Given the description of an element on the screen output the (x, y) to click on. 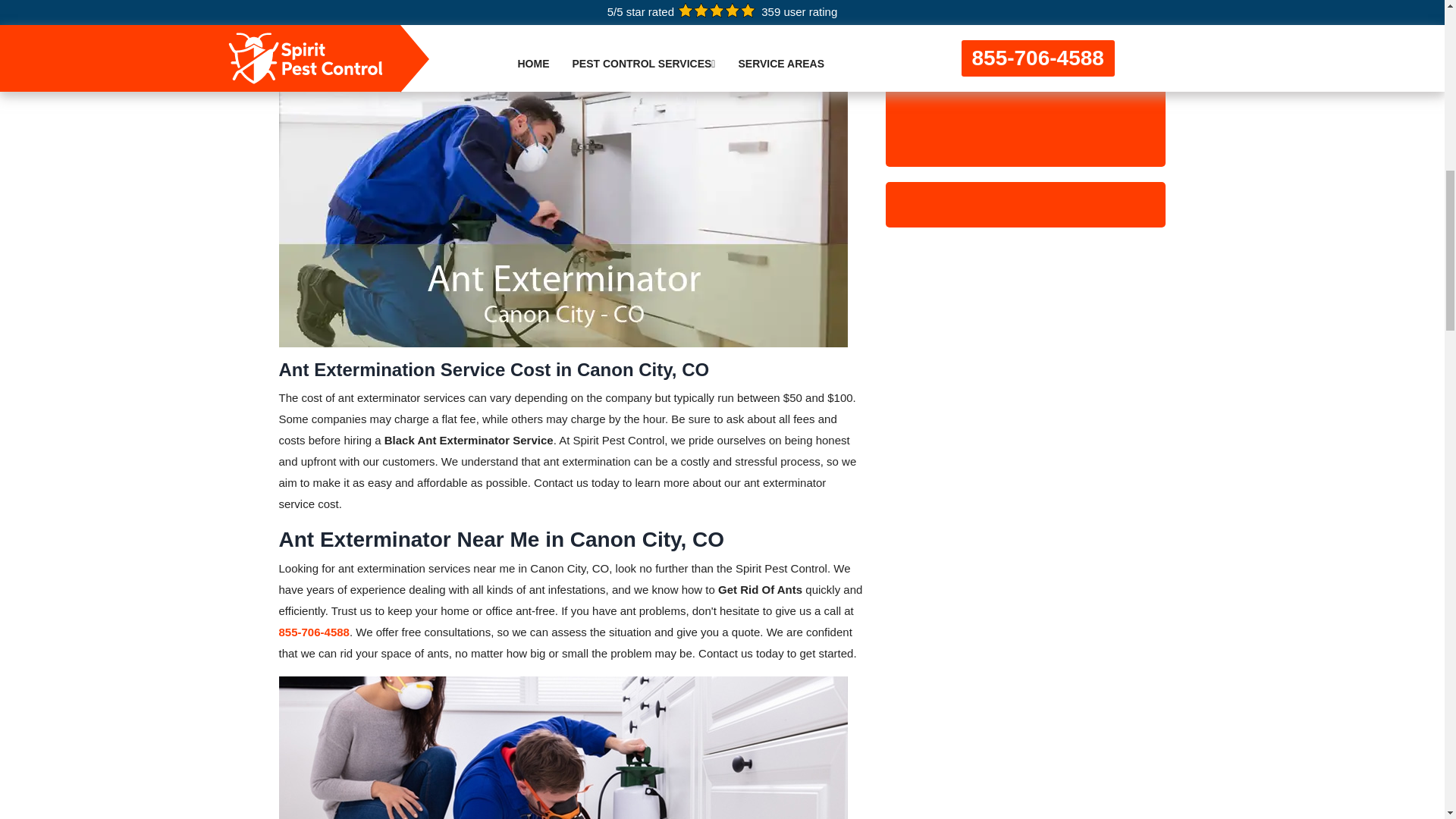
855-706-4588 (314, 631)
